Given the description of an element on the screen output the (x, y) to click on. 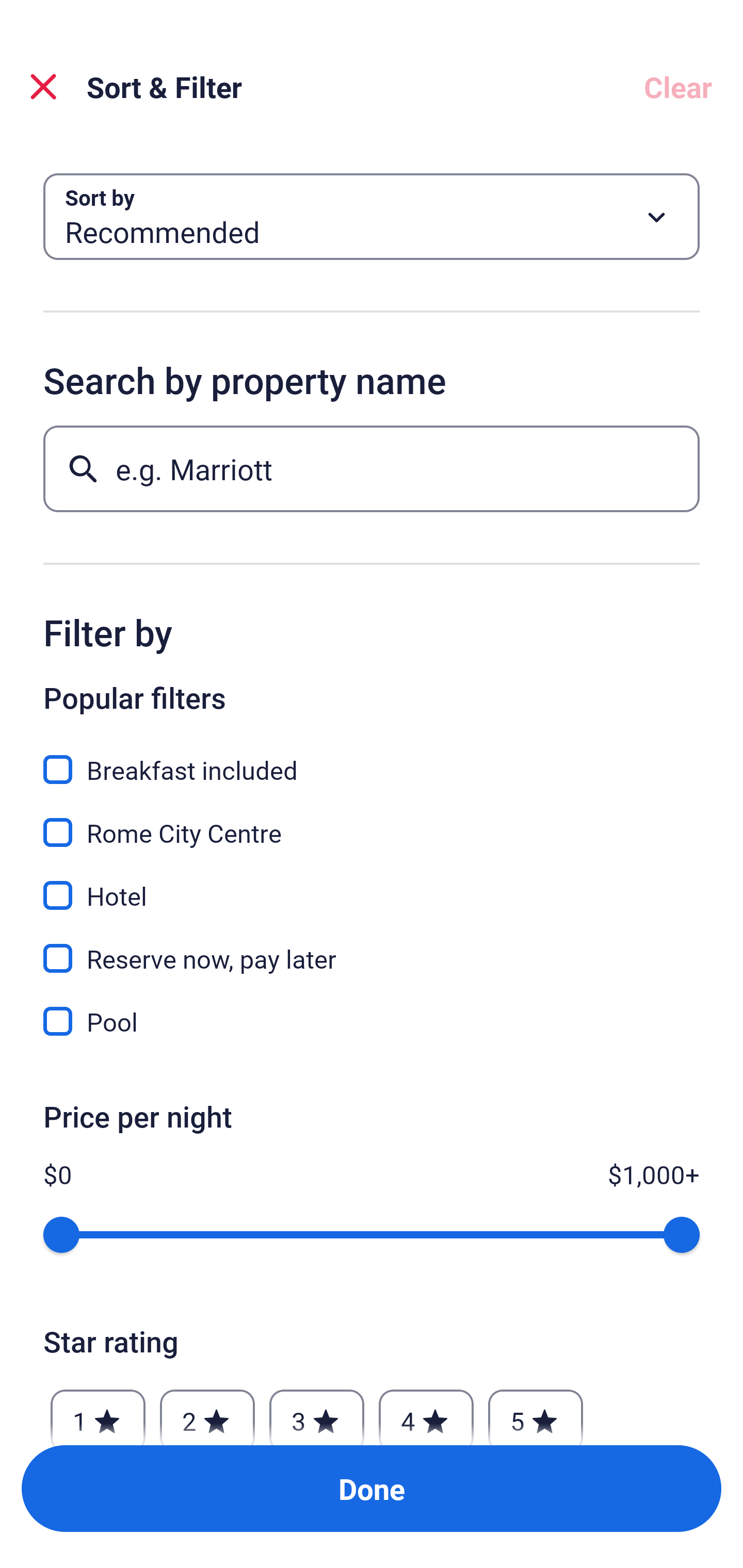
Close Sort and Filter (43, 86)
Clear (677, 86)
Sort by Button Recommended (371, 217)
e.g. Marriott Button (371, 468)
Breakfast included, Breakfast included (371, 757)
Rome City Centre, Rome City Centre (371, 821)
Hotel, Hotel (371, 883)
Reserve now, pay later, Reserve now, pay later (371, 946)
Pool, Pool (371, 1021)
1 (97, 1411)
2 (206, 1411)
3 (316, 1411)
4 (426, 1411)
5 (535, 1411)
Apply and close Sort and Filter Done (371, 1488)
